Given the description of an element on the screen output the (x, y) to click on. 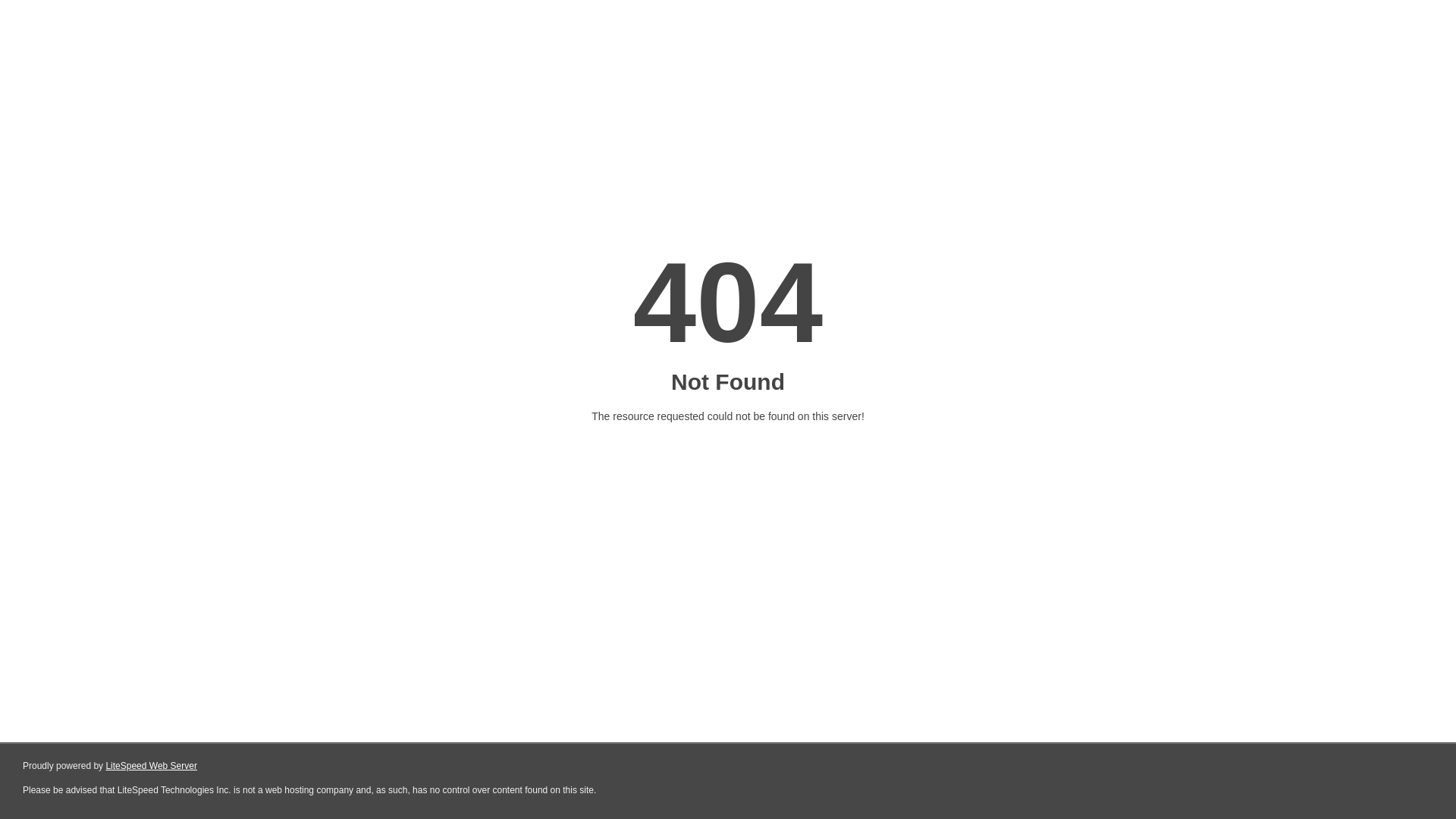
LiteSpeed Web Server Element type: text (151, 765)
